Given the description of an element on the screen output the (x, y) to click on. 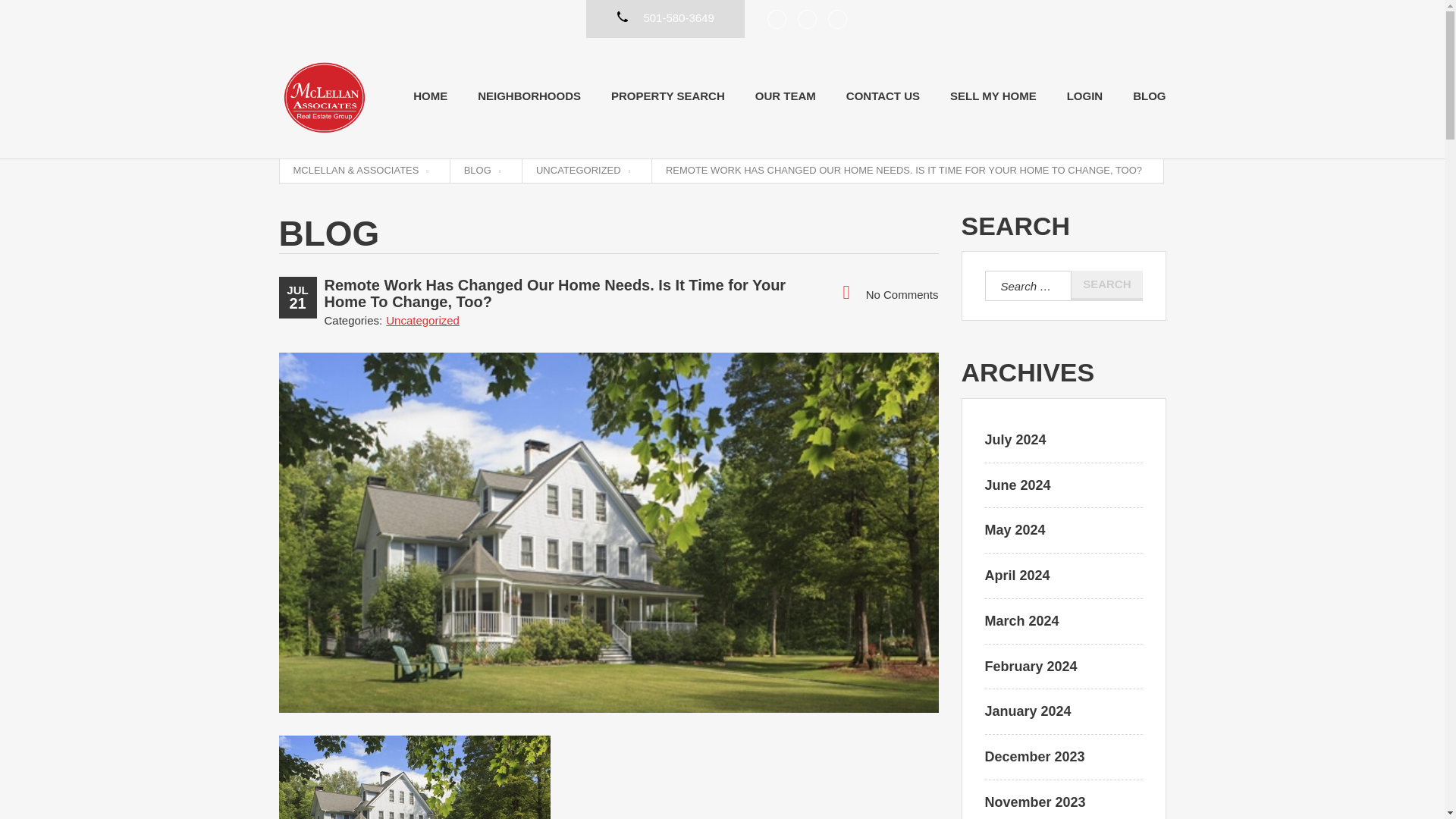
Uncategorized (422, 319)
OUR TEAM (785, 95)
UNCATEGORIZED (582, 170)
NEIGHBORHOODS (528, 95)
BLOG (1149, 95)
Go to Blog. (482, 170)
Search (1106, 286)
LOGIN (1085, 95)
CONTACT US (882, 95)
Search (1106, 286)
SELL MY HOME (993, 95)
No Comments (891, 292)
PROPERTY SEARCH (668, 95)
HOME (429, 95)
